Given the description of an element on the screen output the (x, y) to click on. 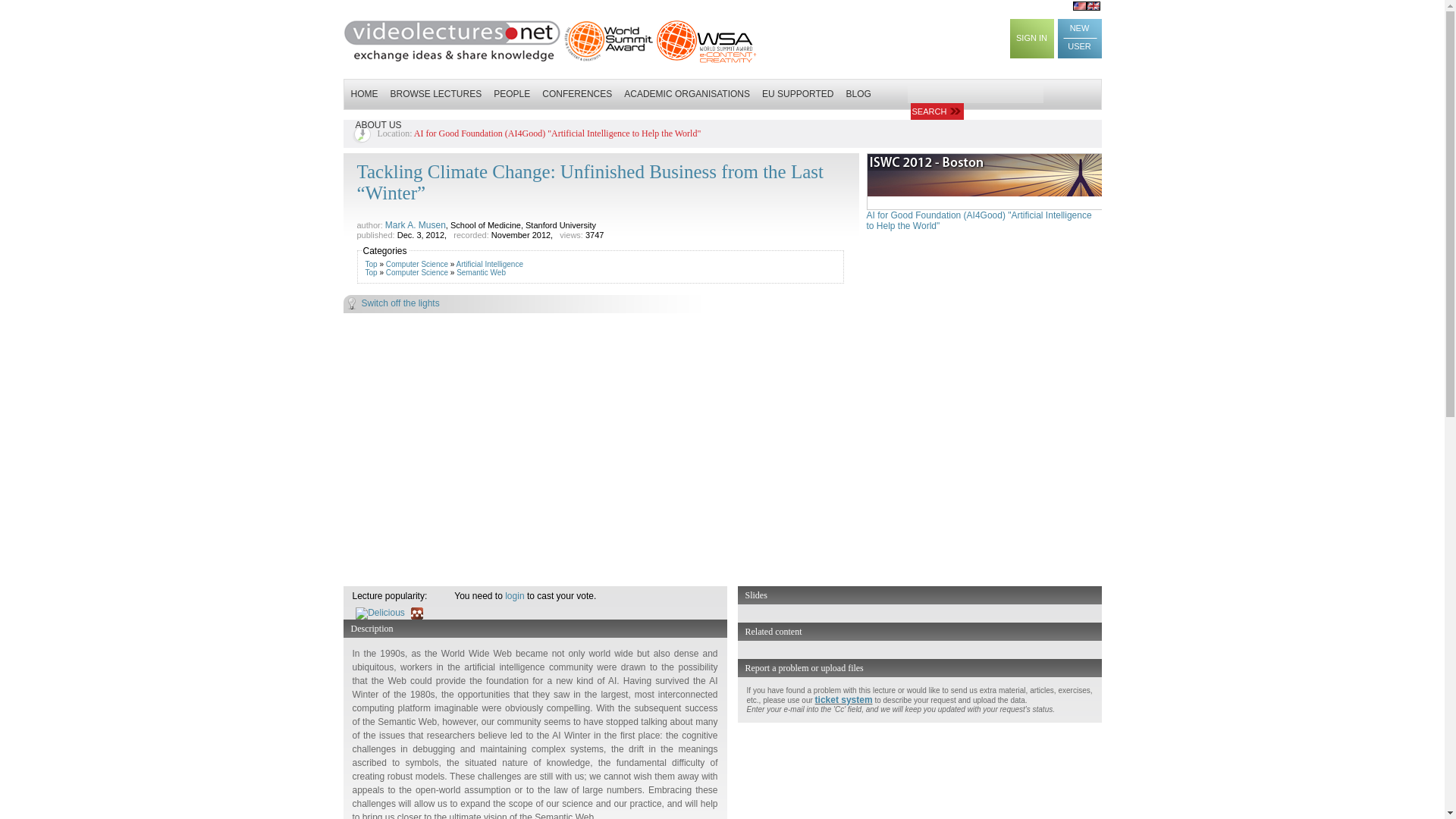
Top (371, 264)
Semantic Web (481, 272)
Computer Science (416, 264)
Choose your language (1087, 5)
HOME (363, 93)
Mark A. Musen (415, 225)
Artificial Intelligence (489, 264)
BLOG (857, 93)
BROWSE LECTURES (435, 93)
Search (936, 111)
